Given the description of an element on the screen output the (x, y) to click on. 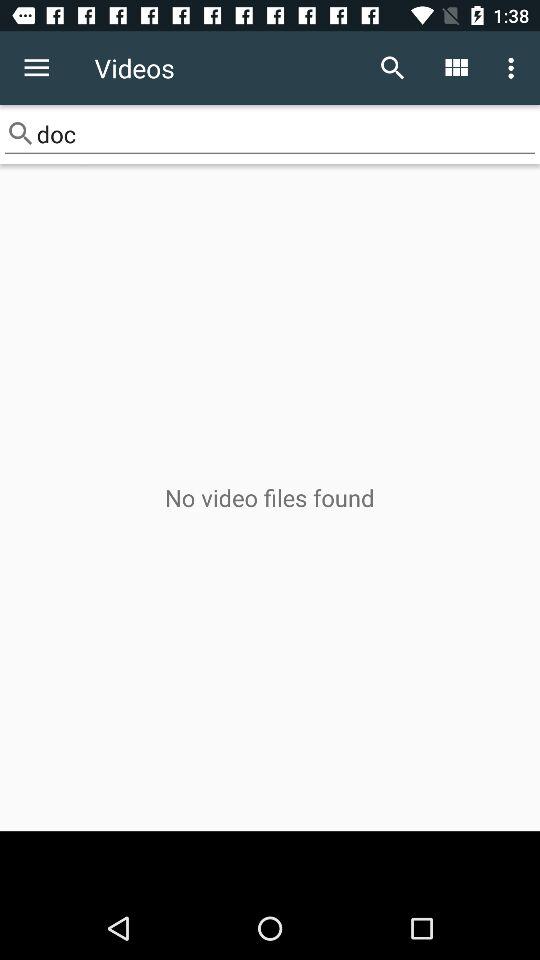
press the icon below no video files item (270, 863)
